Given the description of an element on the screen output the (x, y) to click on. 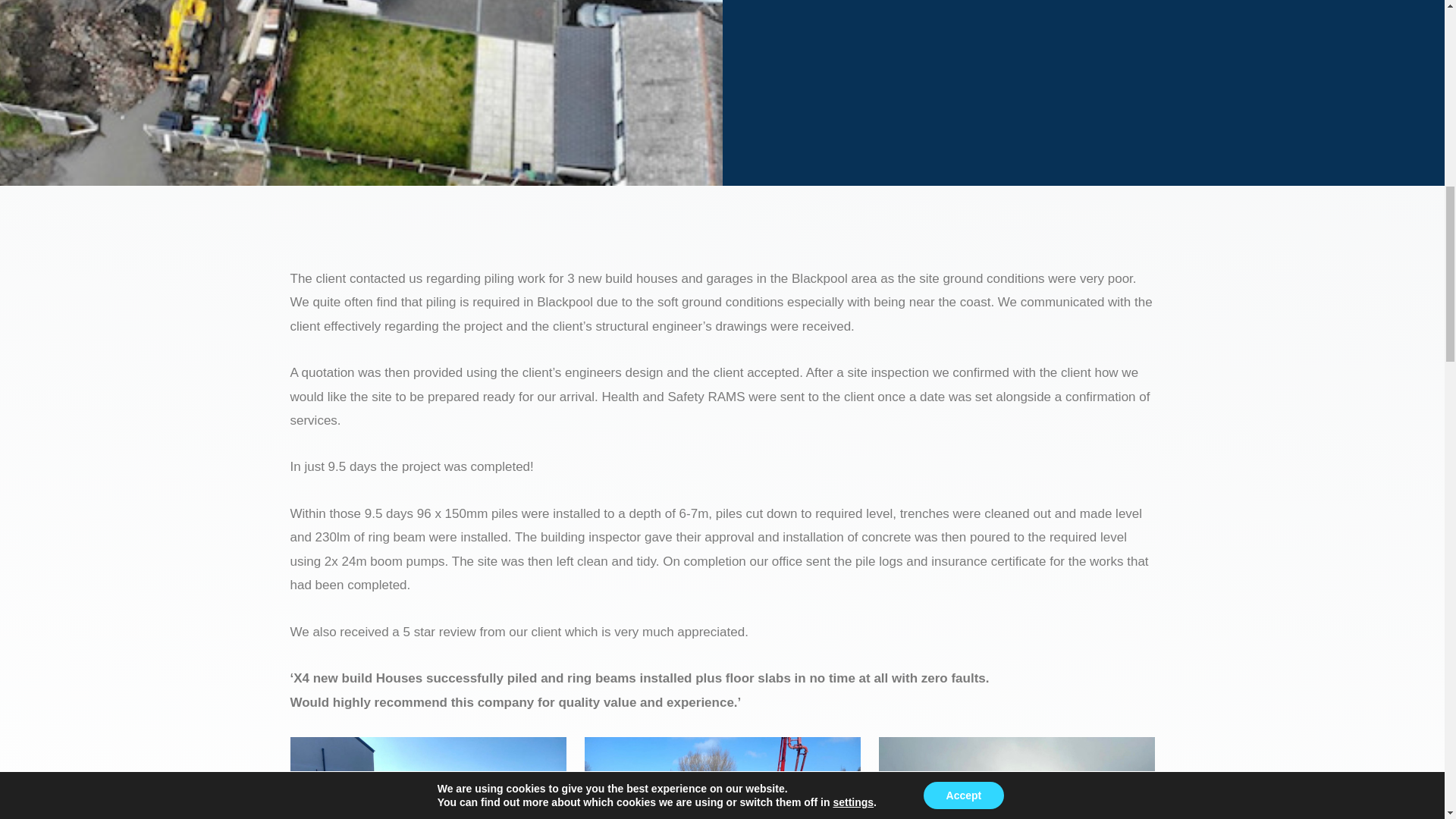
4 New build houses and garages in Blackpool 3 (1015, 778)
4 New build houses and garages in Blackpool 2 (721, 778)
4 New build houses and garages in Blackpool 1 (427, 778)
